Given the description of an element on the screen output the (x, y) to click on. 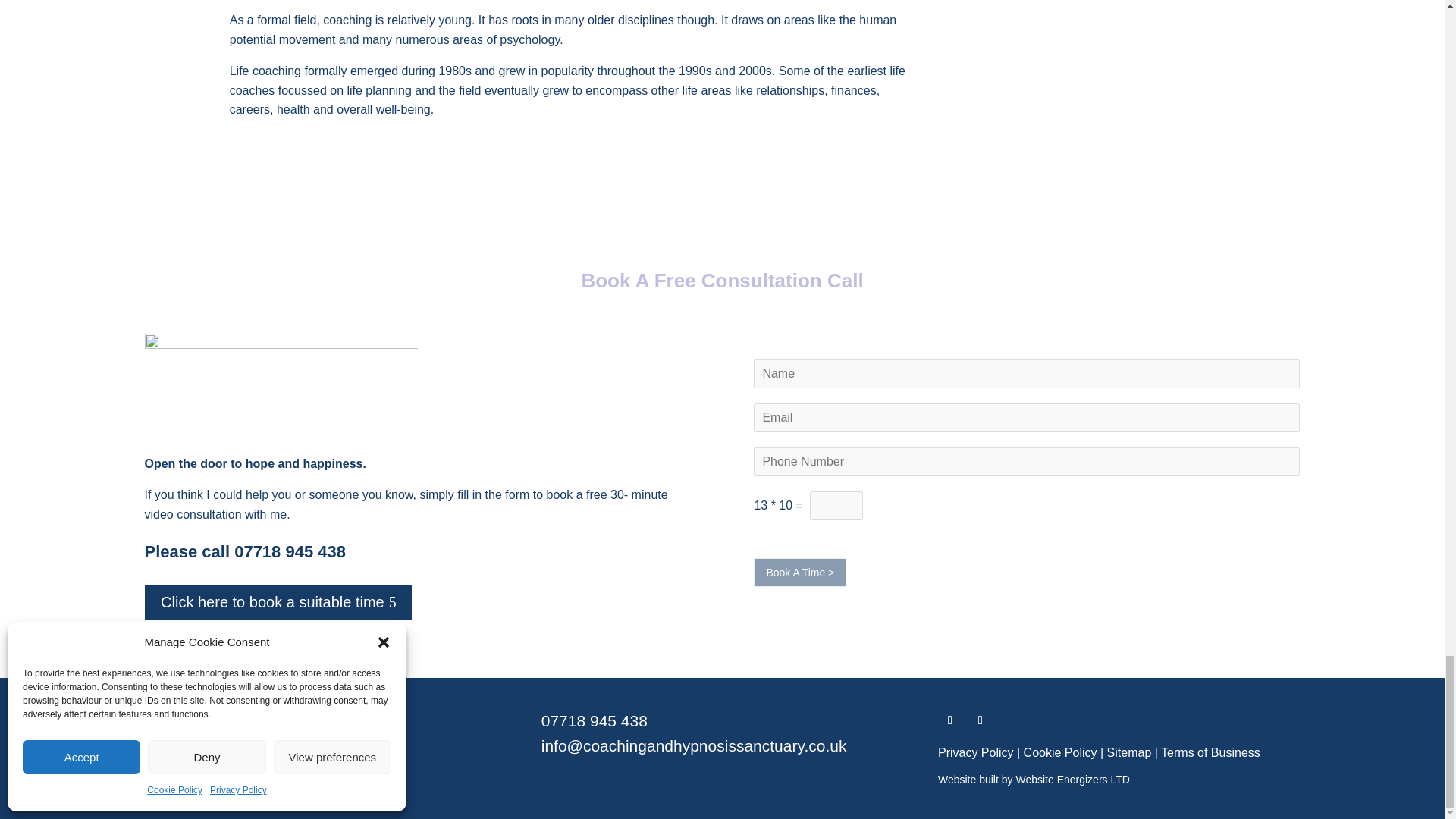
Cookie Policy (1060, 752)
Click here to book a suitable time (277, 601)
AC logo (280, 382)
Privacy Policy (975, 752)
Sitemap (1128, 752)
07718 945 438 (594, 720)
Follow on Facebook (980, 720)
07718 945 438 (290, 551)
Follow on LinkedIn (949, 720)
